Given the description of an element on the screen output the (x, y) to click on. 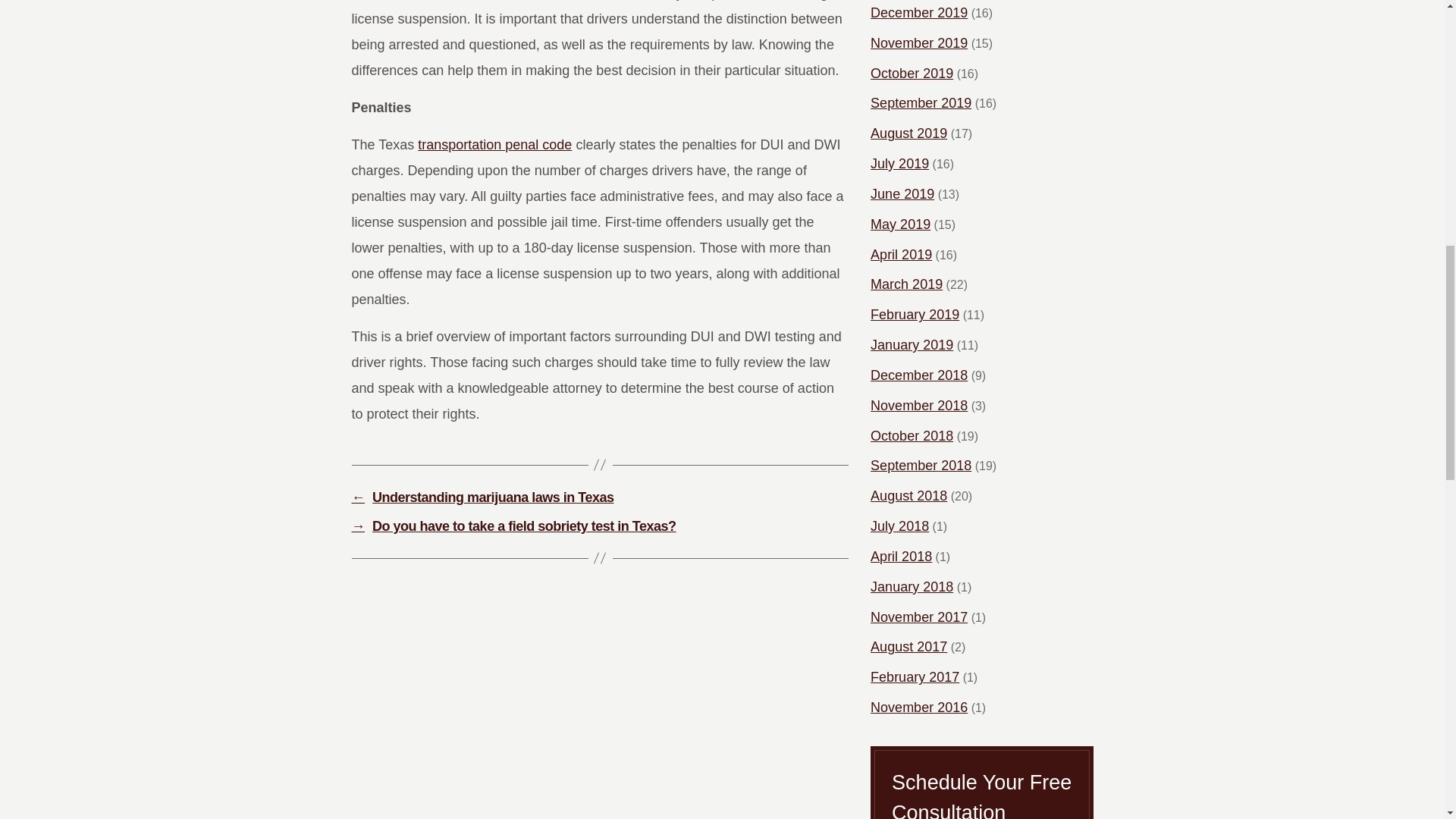
September 2019 (920, 103)
March 2019 (906, 284)
April 2019 (900, 255)
November 2019 (919, 43)
July 2019 (899, 164)
October 2019 (911, 73)
transportation penal code (494, 144)
June 2019 (902, 194)
February 2019 (914, 315)
May 2019 (900, 225)
August 2019 (908, 134)
December 2019 (919, 13)
